Given the description of an element on the screen output the (x, y) to click on. 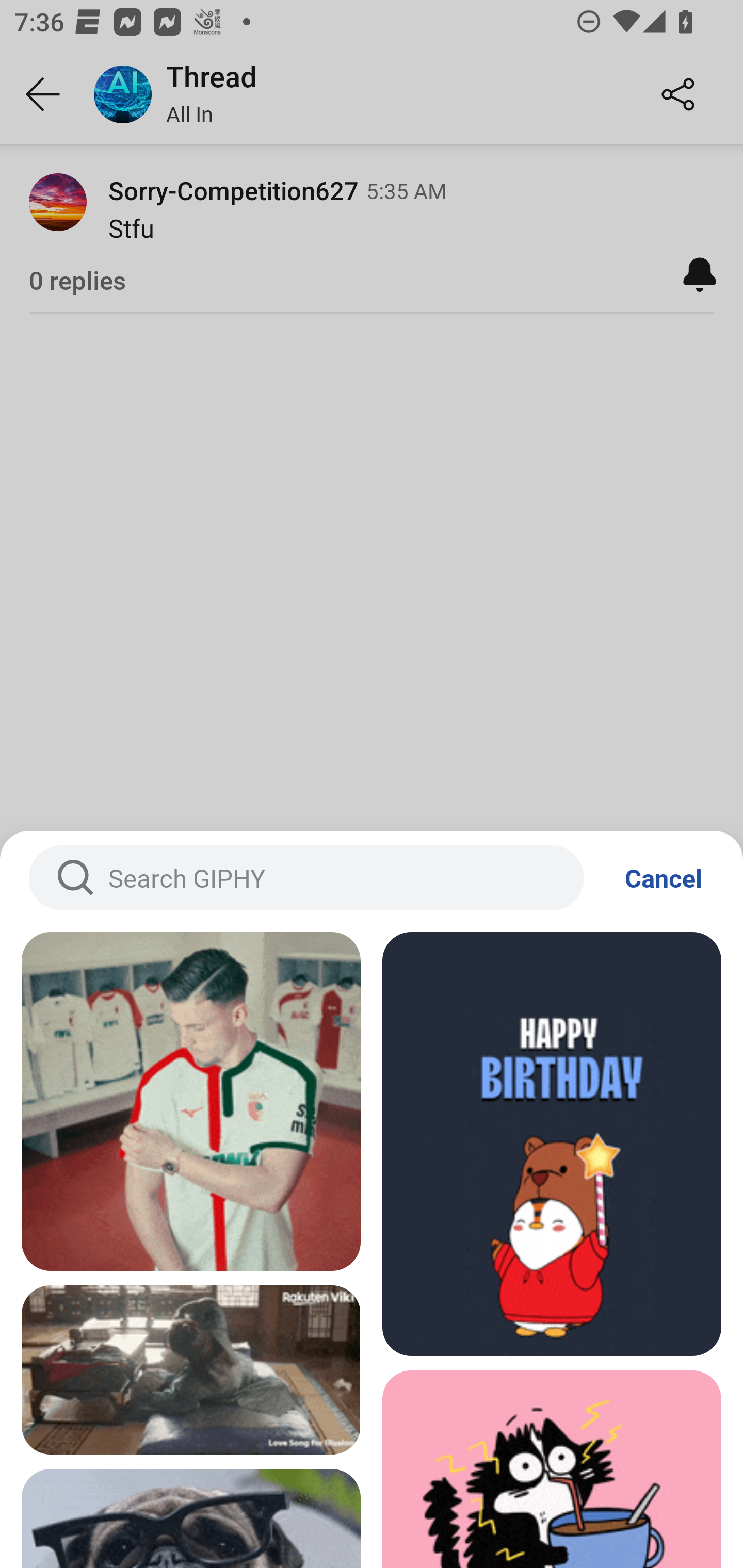
Search GIPHY (305, 878)
Cancel (663, 878)
Gif (190, 1101)
Gif (551, 1143)
Gif (190, 1370)
Gif (551, 1469)
